Given the description of an element on the screen output the (x, y) to click on. 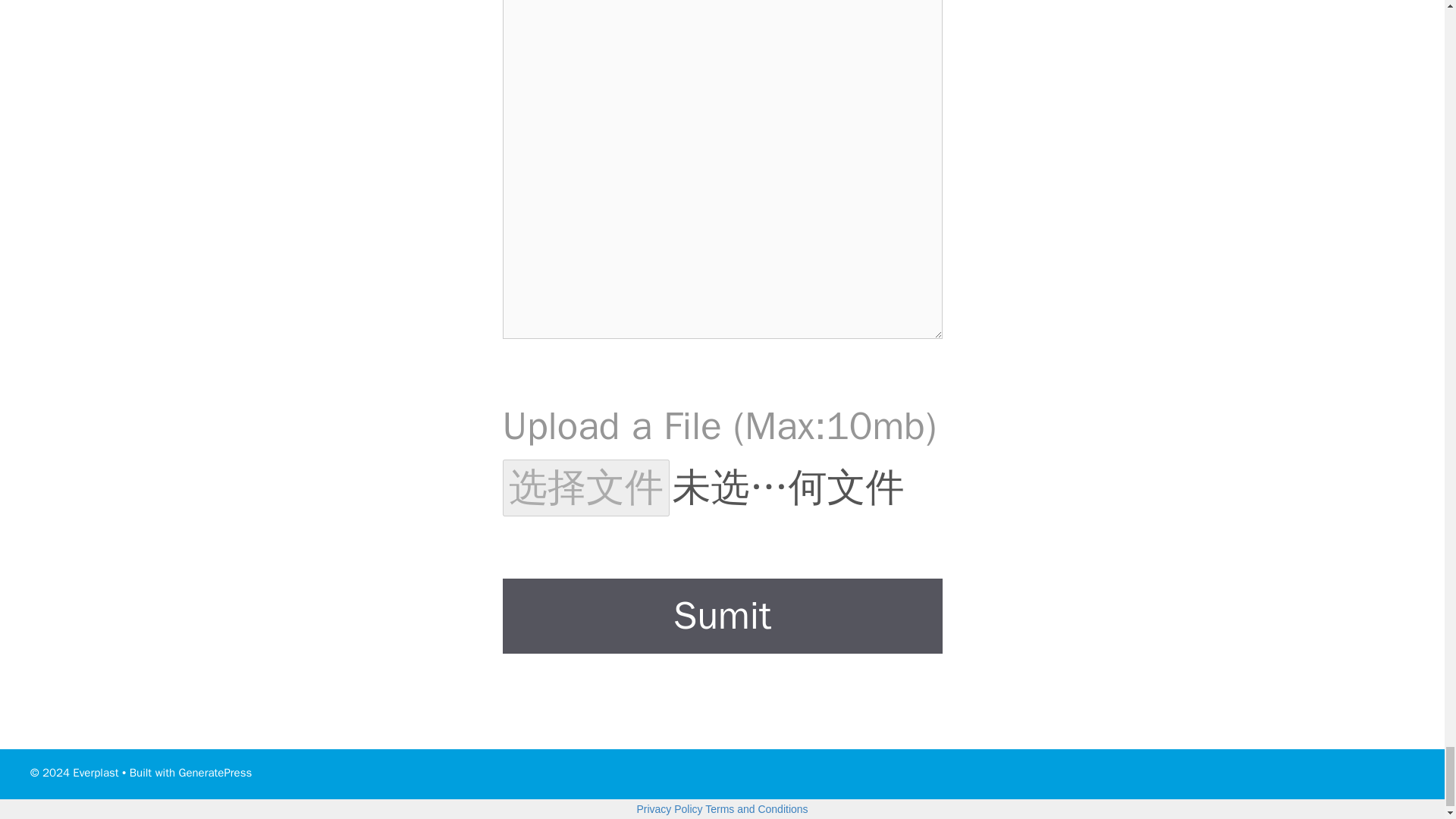
Sumit (722, 615)
